Given the description of an element on the screen output the (x, y) to click on. 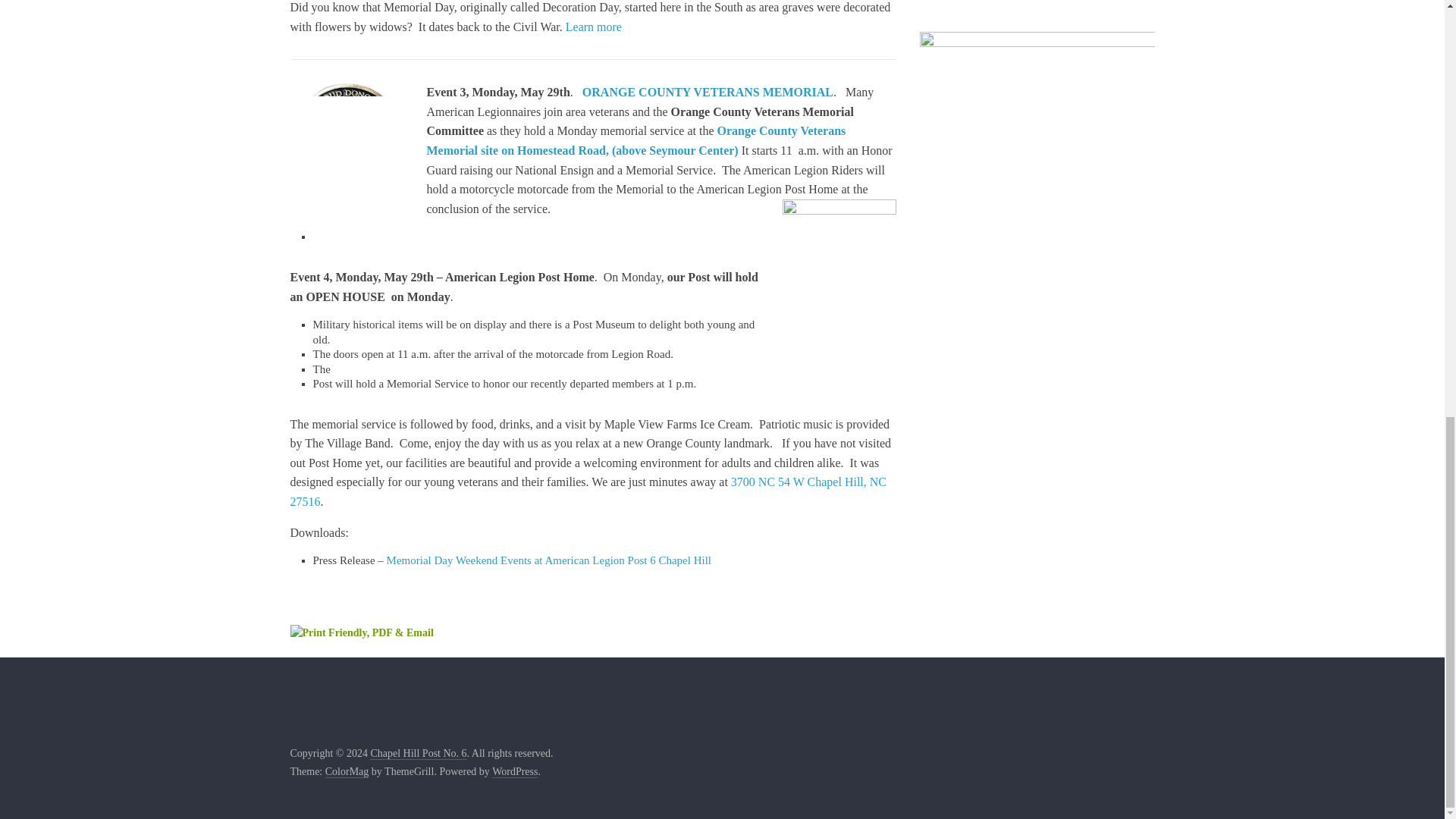
ColorMag (346, 771)
Chapel Hill Post No. 6 (417, 753)
WordPress (514, 771)
